Given the description of an element on the screen output the (x, y) to click on. 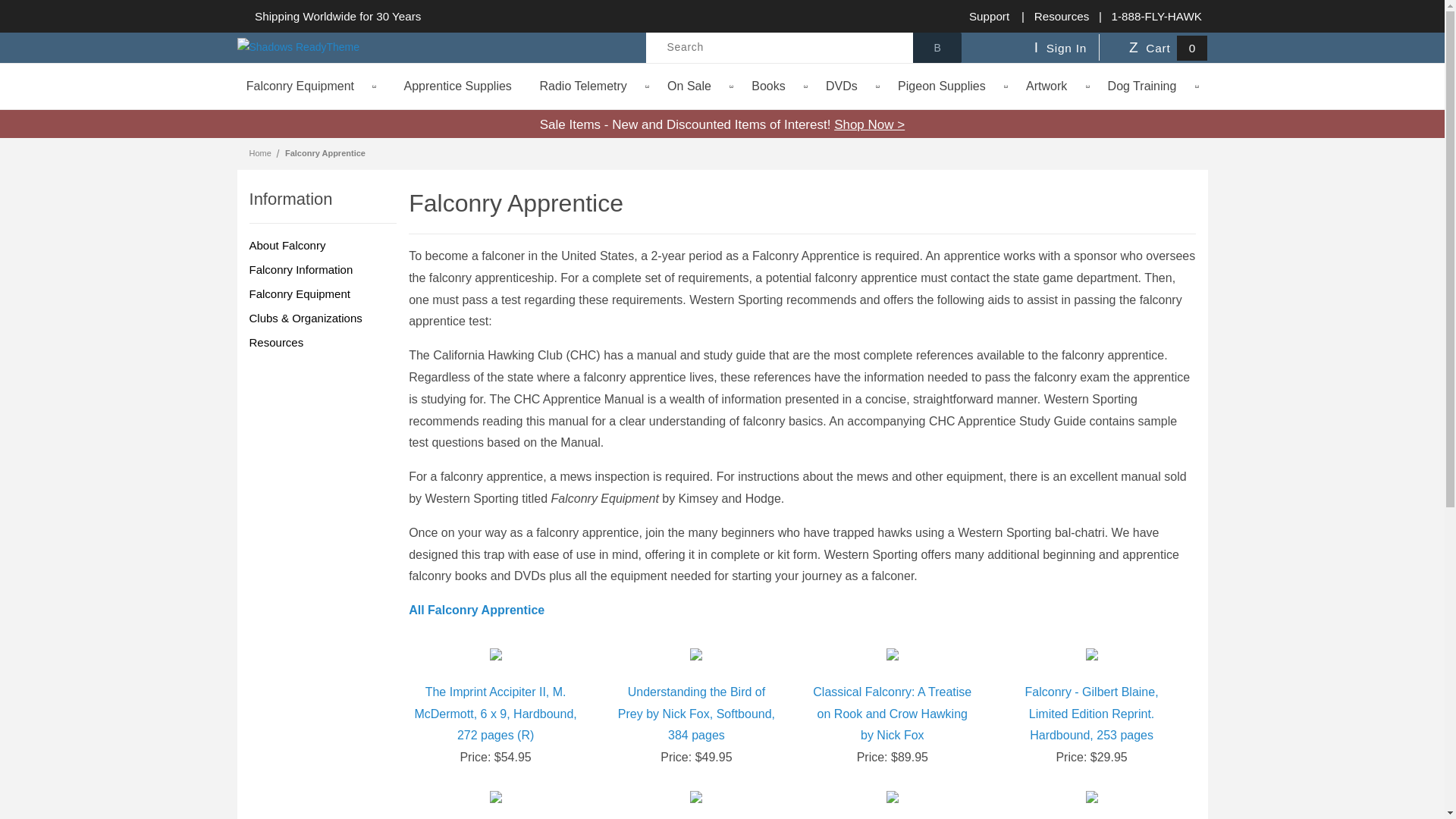
Resources (1061, 15)
Radio Telemetry (593, 86)
Cart 0 (1164, 47)
Home (260, 153)
Western Sporting Falconry - (297, 46)
Falconry Apprentice (325, 153)
Apprentice Supplies (457, 86)
Support (989, 15)
Falconry Equipment (322, 293)
Sign In (1063, 47)
